Given the description of an element on the screen output the (x, y) to click on. 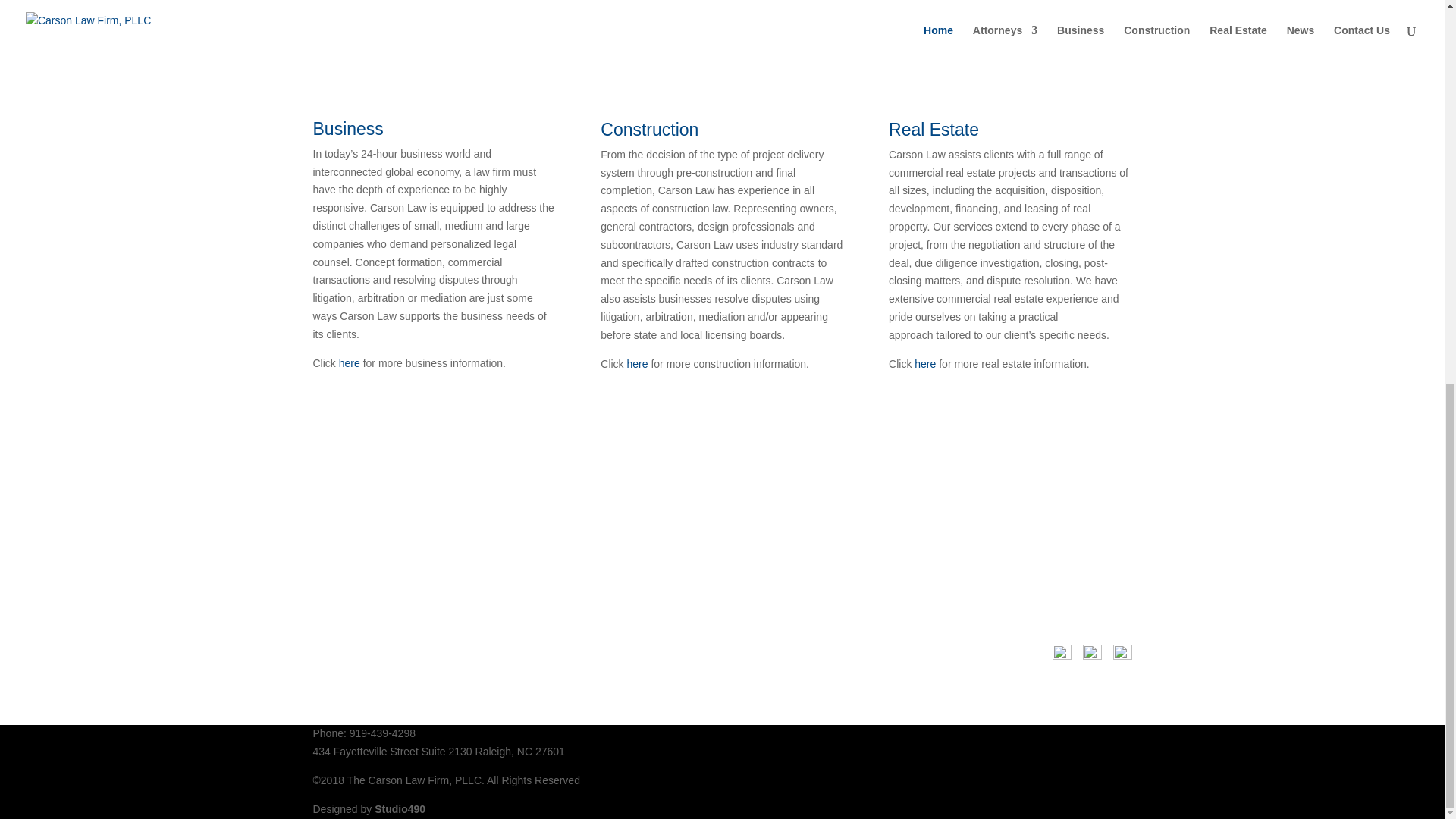
here (637, 363)
Studio490 (399, 808)
here (349, 363)
Contact Us (366, 508)
here (925, 363)
